Given the description of an element on the screen output the (x, y) to click on. 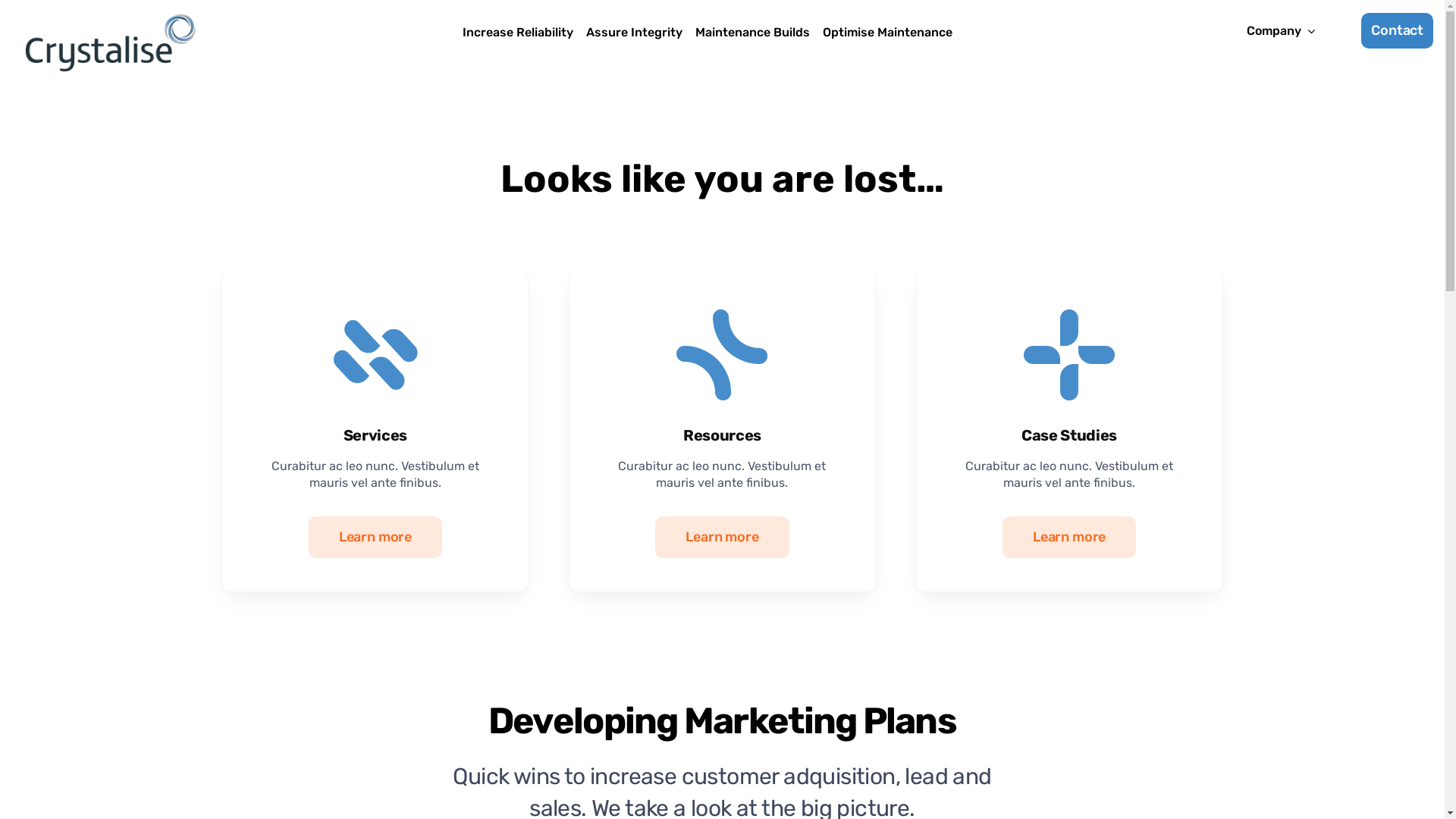
Company Element type: text (1280, 31)
Learn more Element type: text (721, 537)
Optimise Maintenance Element type: text (887, 33)
Maintenance Builds Element type: text (752, 33)
Increase Reliability Element type: text (517, 33)
Learn more Element type: text (1068, 537)
Learn more Element type: text (375, 537)
Assure Integrity Element type: text (634, 33)
Contact Element type: text (1397, 30)
